Given the description of an element on the screen output the (x, y) to click on. 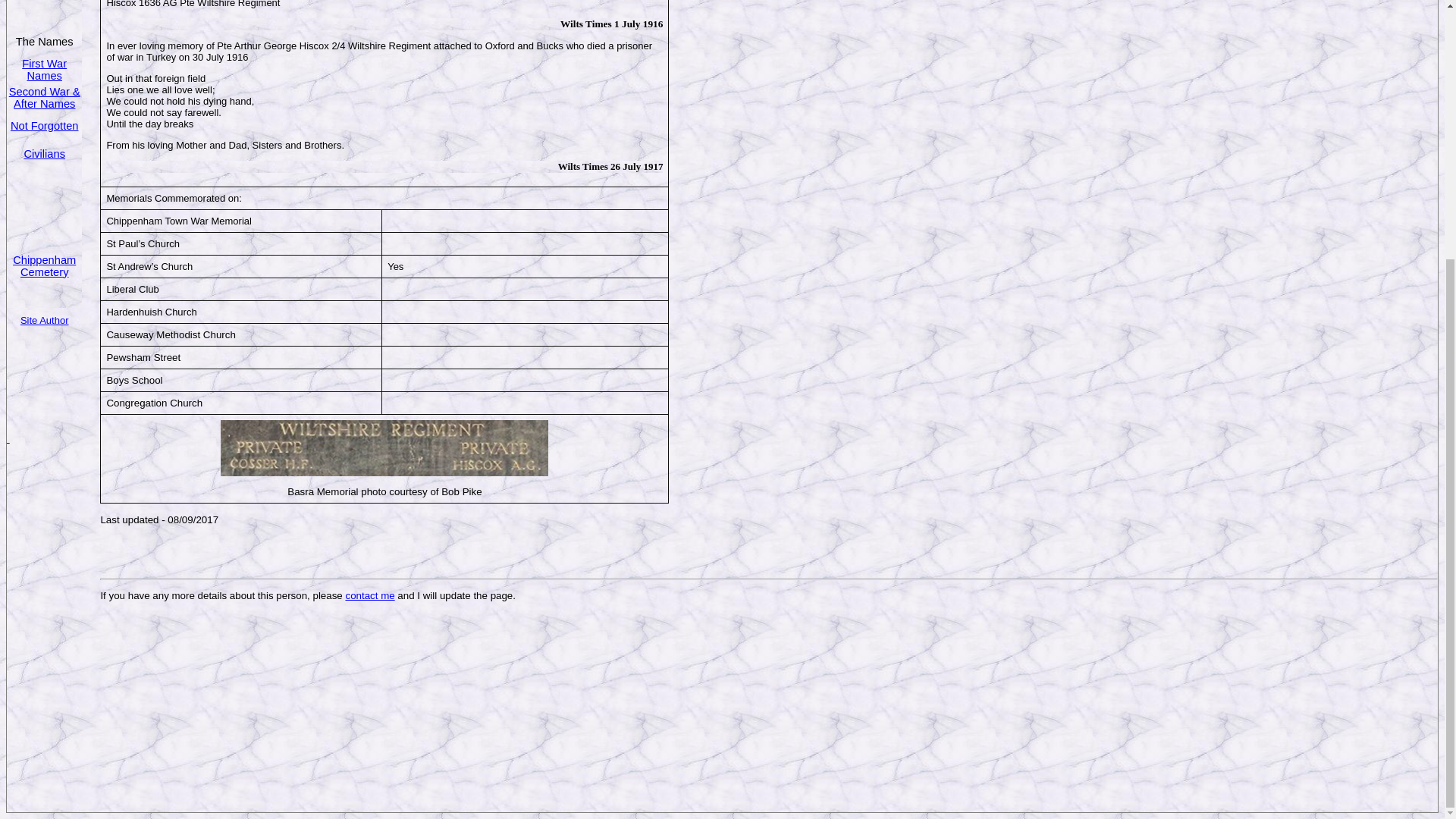
Site Author (44, 319)
Names (43, 75)
Not Forgotten (44, 125)
First War (43, 62)
Chippenham Cemetery (44, 265)
Civilians (44, 152)
